Given the description of an element on the screen output the (x, y) to click on. 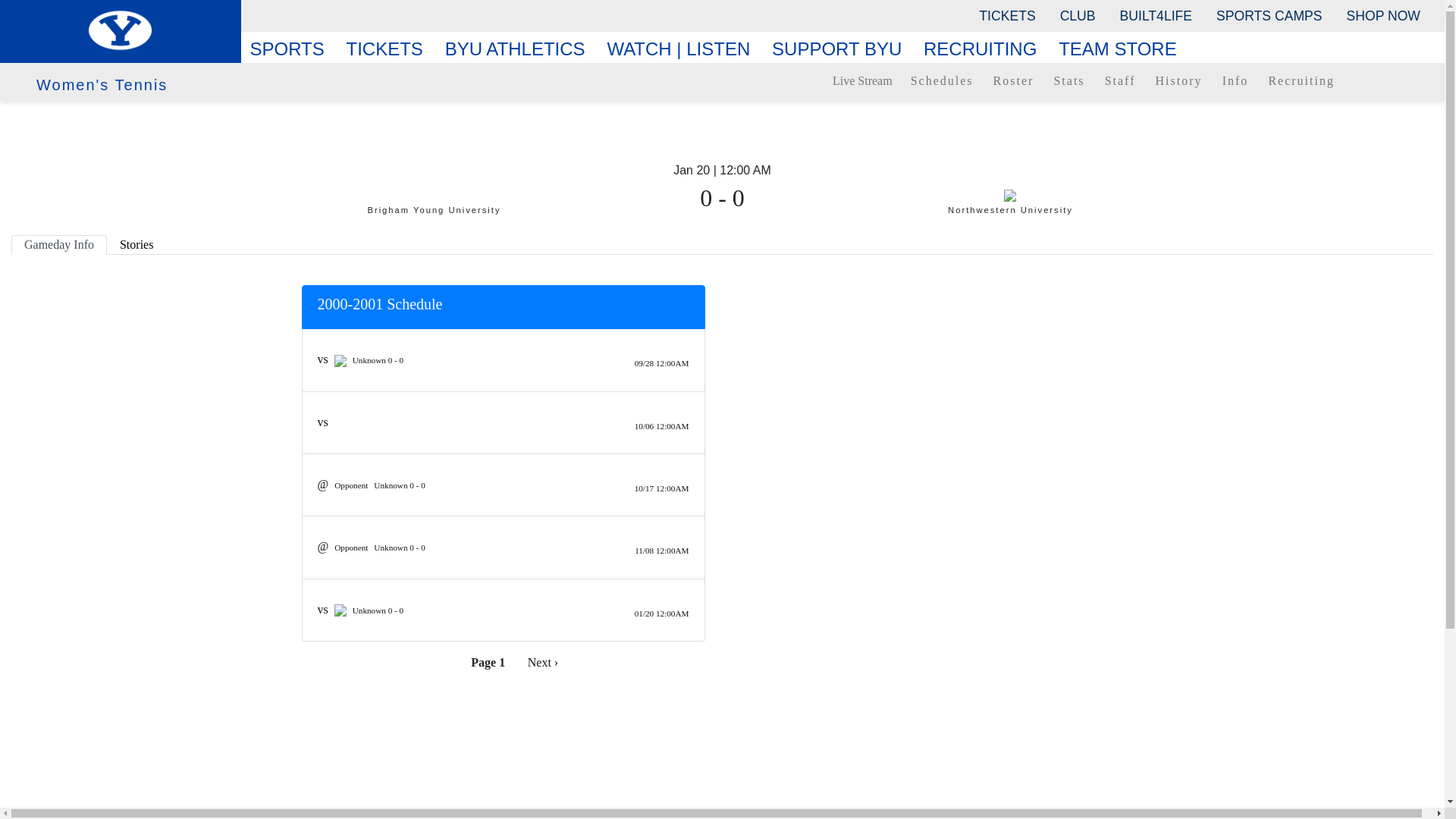
BUILT4LIFE (1156, 15)
CLUB (1078, 15)
Go to next page (542, 662)
SPORTS (292, 49)
TICKETS (1006, 15)
SPORTS CAMPS (1268, 15)
SHOP NOW (1383, 15)
